Given the description of an element on the screen output the (x, y) to click on. 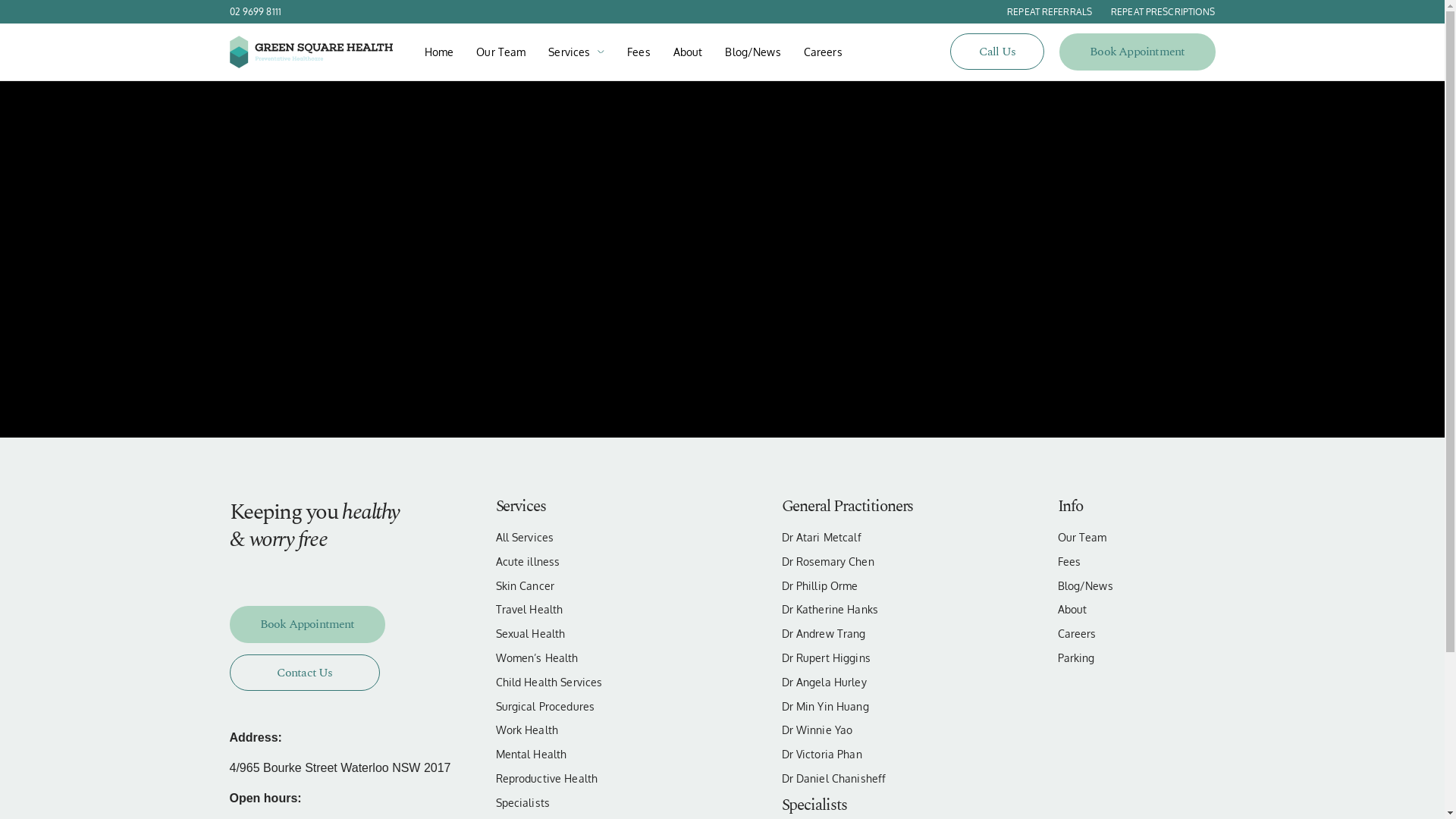
Surgical Procedures Element type: text (571, 706)
Parking Element type: text (1130, 658)
Book Appointment Element type: text (306, 624)
Acute illness Element type: text (571, 561)
Dr Phillip Orme Element type: text (856, 586)
Dr Daniel Chanisheff Element type: text (856, 778)
REPEAT PRESCRIPTIONS Element type: text (1153, 11)
Contact Us Element type: text (304, 672)
Book Appointment Element type: text (1136, 51)
Dr Winnie Yao Element type: text (856, 730)
Specialists Element type: text (571, 803)
Mental Health Element type: text (571, 754)
REPEAT REFERRALS Element type: text (1040, 11)
About Element type: text (687, 51)
About Element type: text (1130, 609)
Reproductive Health Element type: text (571, 778)
Our Team Element type: text (500, 51)
Careers Element type: text (1130, 633)
Call Us Element type: text (997, 51)
02 9699 8111 Element type: text (254, 11)
Careers Element type: text (822, 51)
Blog/News Element type: text (1130, 586)
Dr Atari Metcalf Element type: text (856, 537)
Fees Element type: text (638, 51)
Services Element type: text (568, 51)
Dr Katherine Hanks Element type: text (856, 609)
Dr Andrew Trang Element type: text (856, 633)
Child Health Services Element type: text (571, 682)
Work Health Element type: text (571, 730)
Dr Angela Hurley Element type: text (856, 682)
Home Element type: text (439, 51)
Our Team Element type: text (1130, 537)
Dr Rupert Higgins Element type: text (856, 658)
Dr Rosemary Chen Element type: text (856, 561)
Sexual Health Element type: text (571, 633)
Skin Cancer Element type: text (571, 586)
Dr Min Yin Huang Element type: text (856, 706)
Travel Health Element type: text (571, 609)
All Services Element type: text (571, 537)
Fees Element type: text (1130, 561)
Blog/News Element type: text (752, 51)
Dr Victoria Phan Element type: text (856, 754)
